Given the description of an element on the screen output the (x, y) to click on. 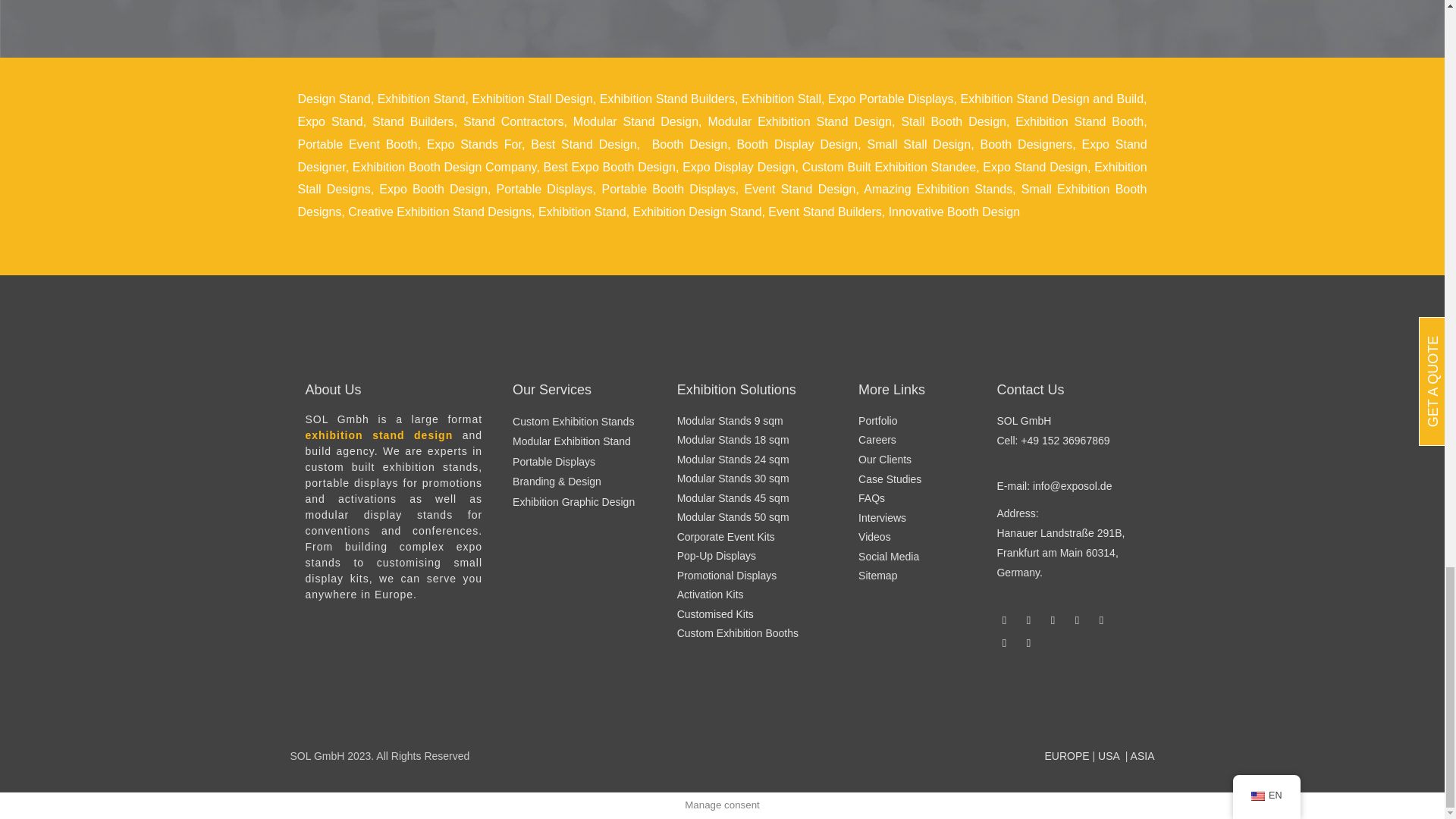
Stand Contractors (513, 121)
Design Stand (333, 98)
Exhibition Stand Builders (667, 98)
Exhibition Stand Design and Build (1051, 98)
Stand Builders (413, 121)
Exhibition Stall (781, 98)
Expo Stand (329, 121)
Exhibition Stand (421, 98)
Expo Portable Displays (890, 98)
Exhibition Stall Design (531, 98)
